Given the description of an element on the screen output the (x, y) to click on. 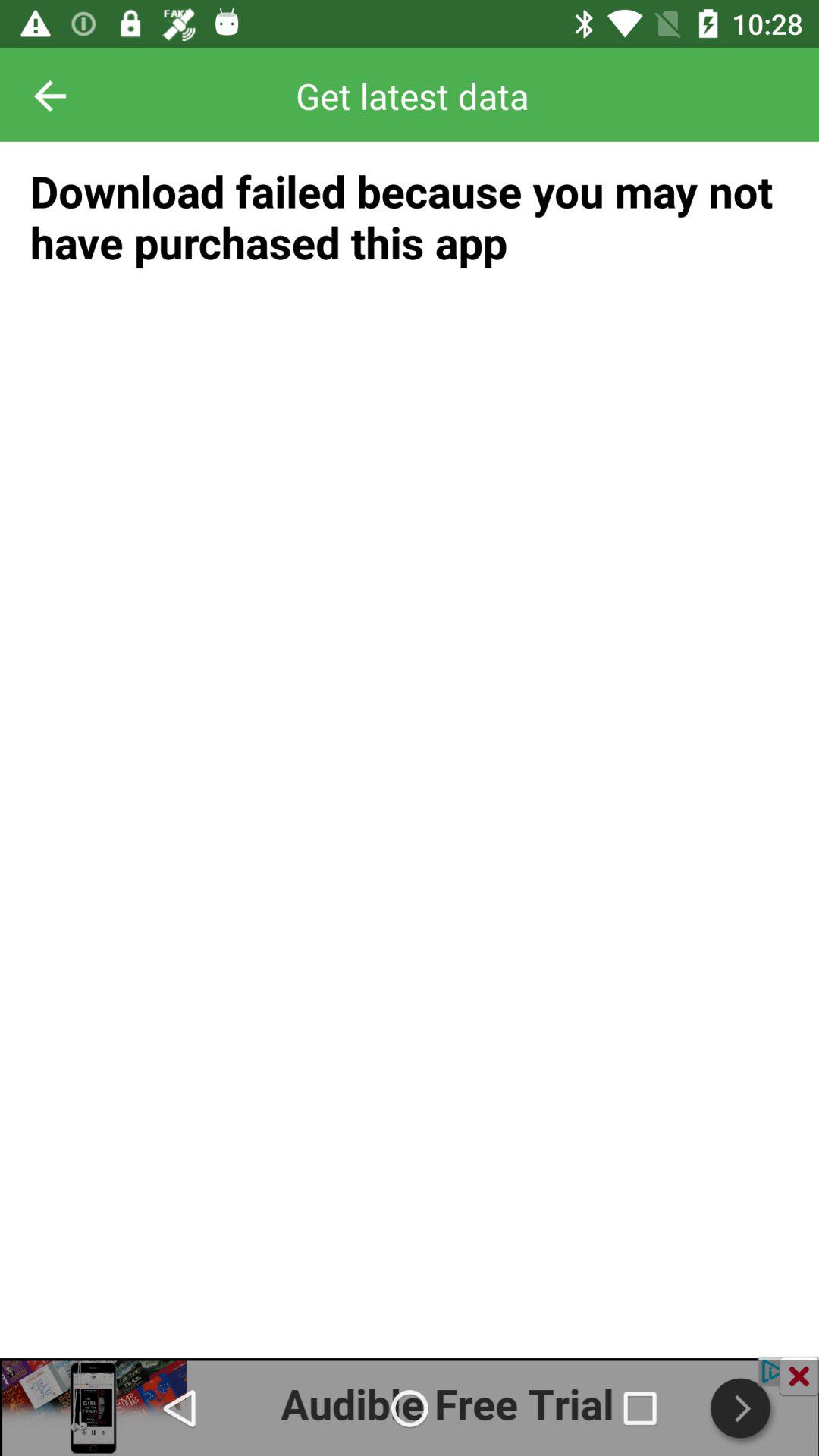
go to music (409, 1406)
